Given the description of an element on the screen output the (x, y) to click on. 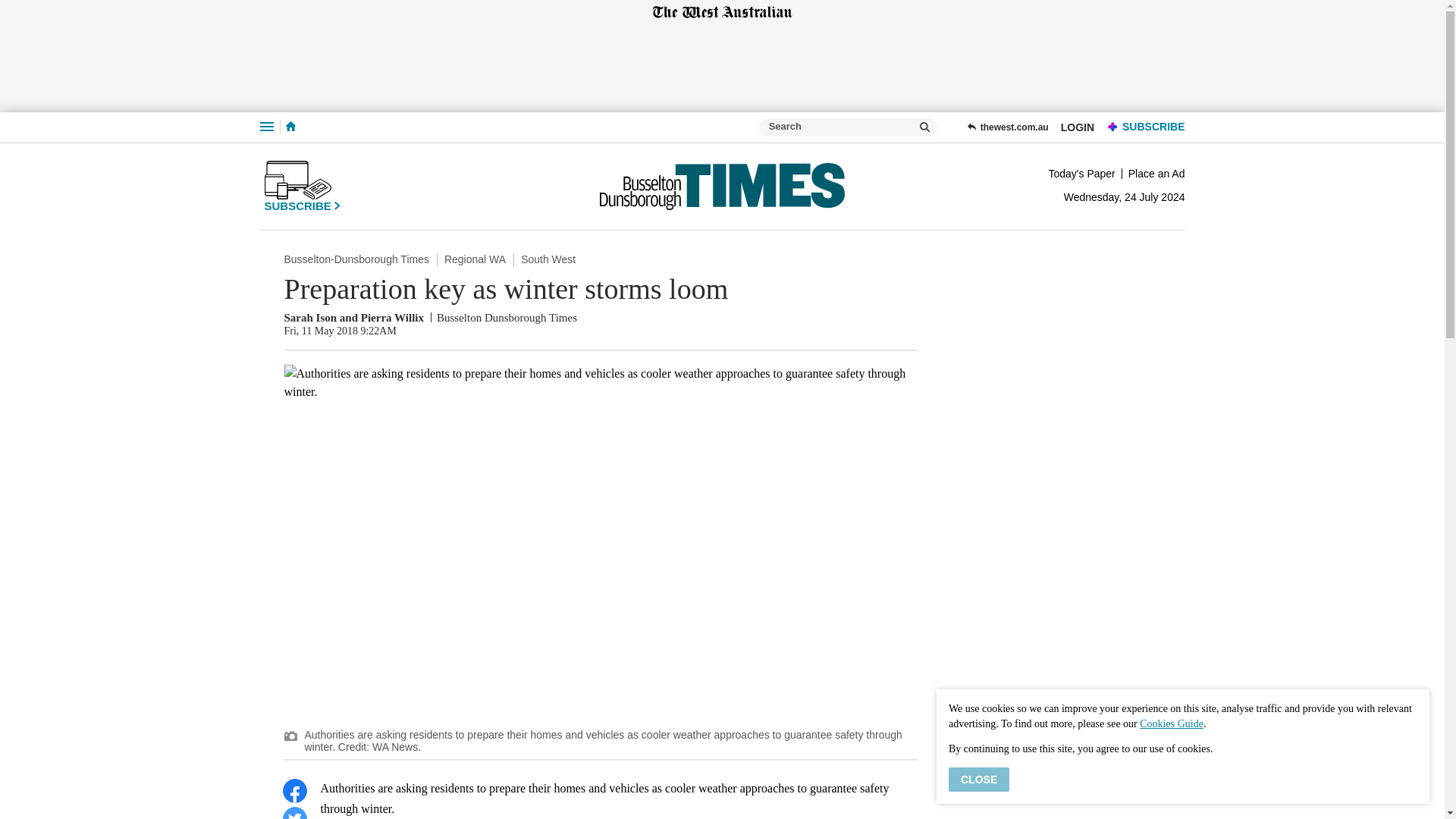
PREMIUMSUBSCRIBE (1142, 127)
thewest.com.au (1007, 127)
LOGIN (1077, 127)
PREMIUM (1112, 126)
Home (290, 126)
Please enter a search term. (924, 127)
SUBSCRIBE CHEVRON RIGHT ICON (302, 185)
Home (290, 126)
